Given the description of an element on the screen output the (x, y) to click on. 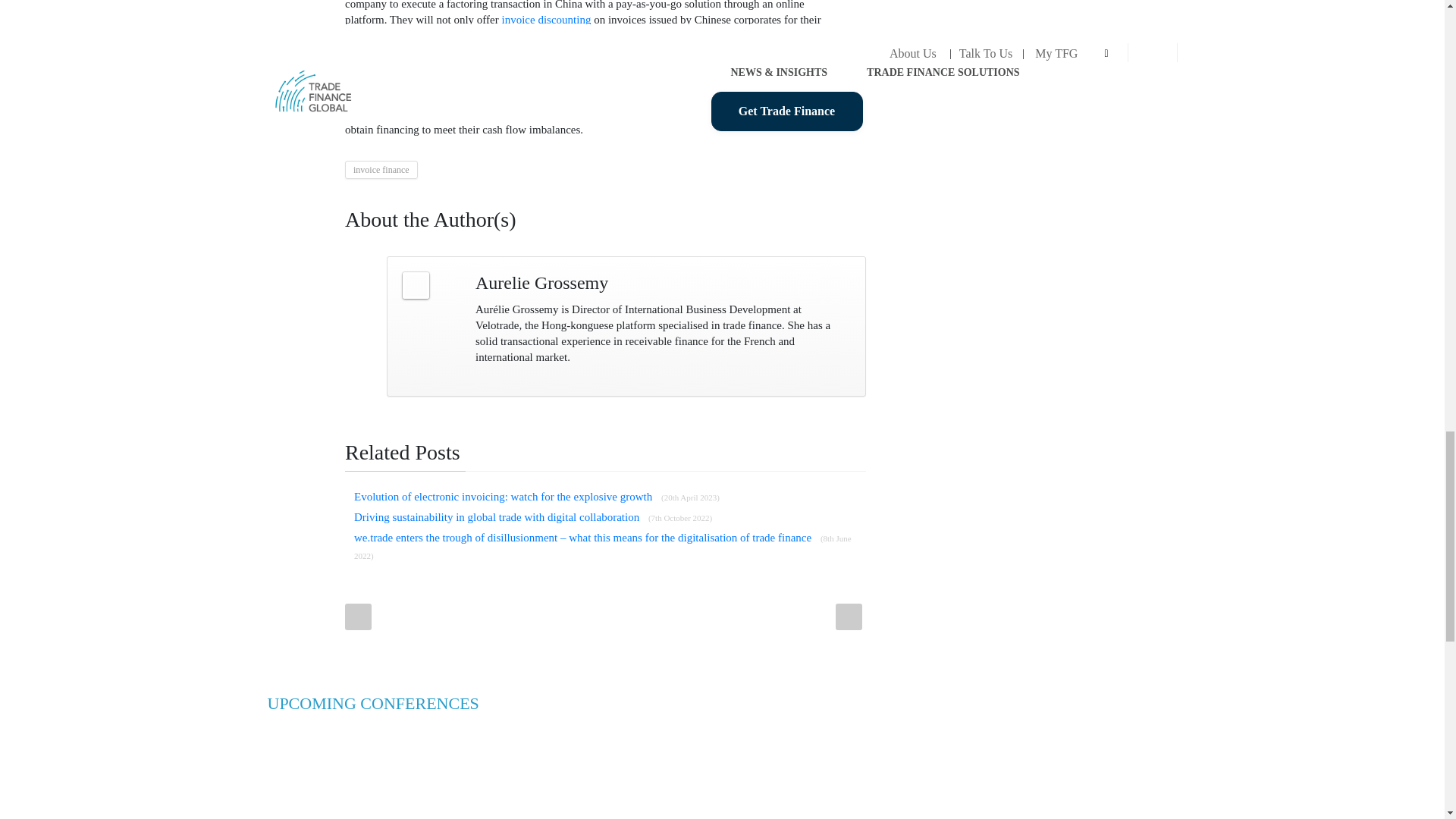
Page 1 (596, 69)
